Given the description of an element on the screen output the (x, y) to click on. 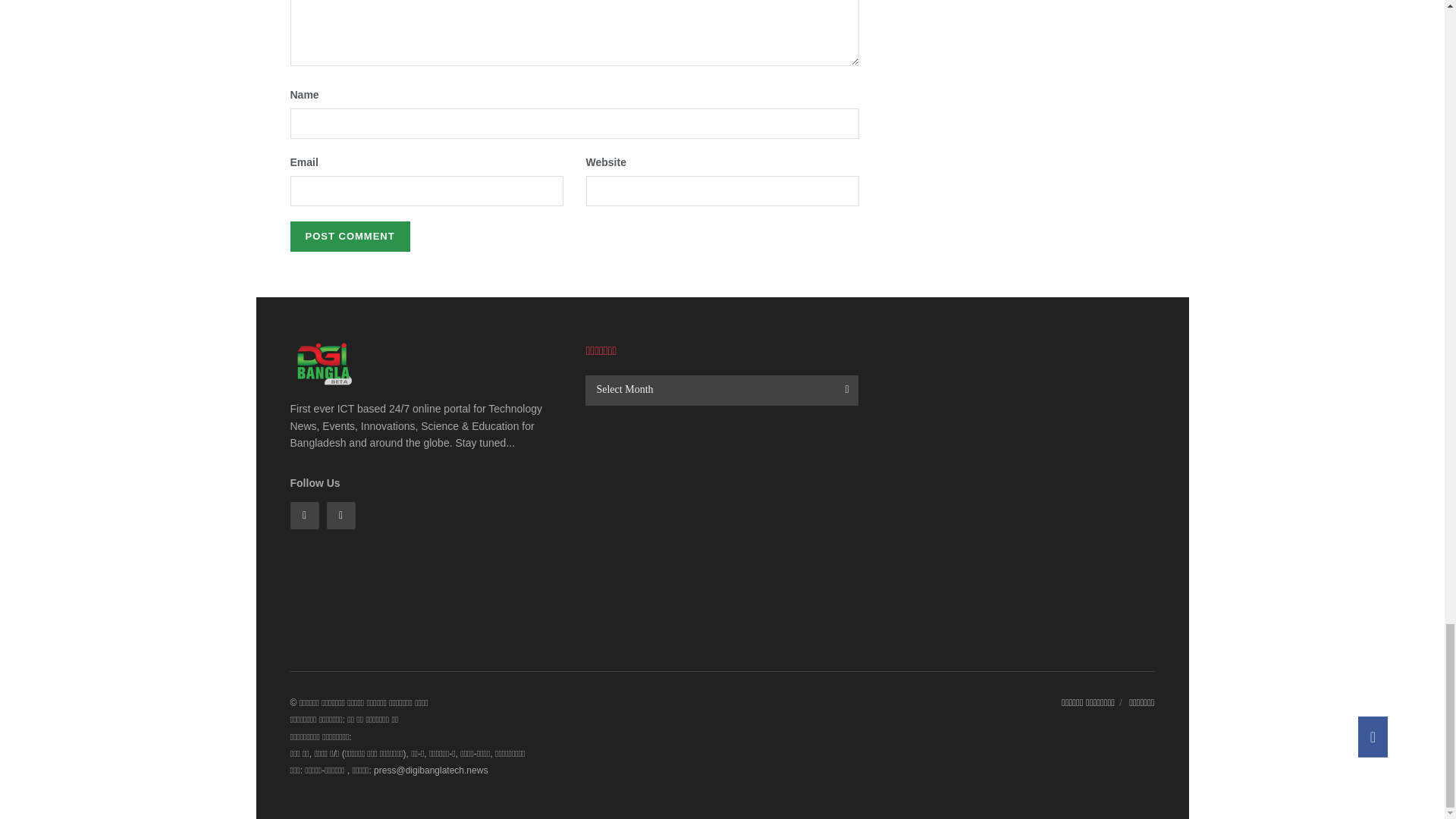
Post Comment (349, 236)
Advertisement (722, 534)
